Given the description of an element on the screen output the (x, y) to click on. 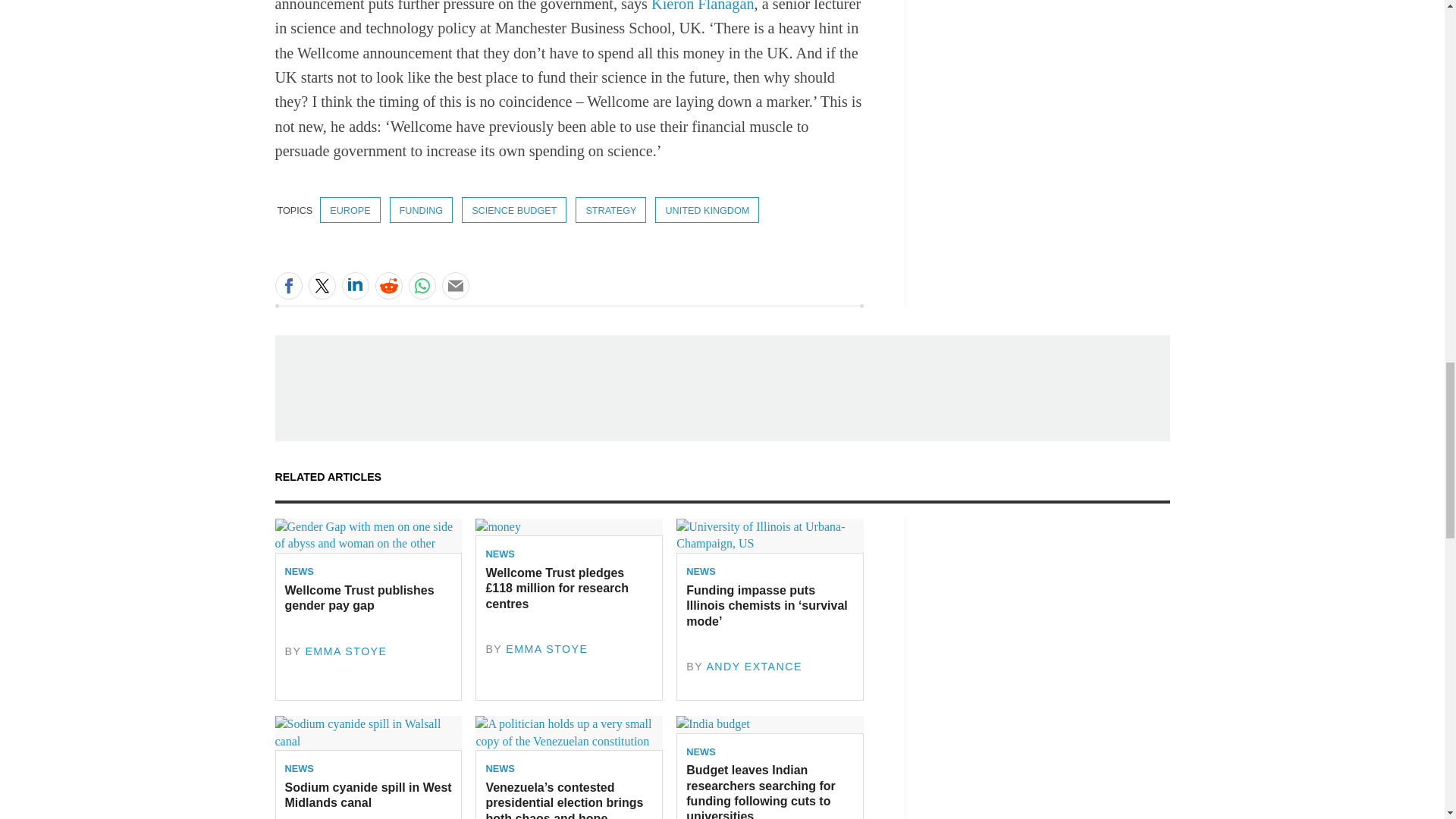
Share this on WhatsApp (421, 285)
Share this on Reddit (387, 285)
Share this on Facebook (288, 285)
Share this on LinkedIn (354, 285)
Share this by email (454, 285)
